Given the description of an element on the screen output the (x, y) to click on. 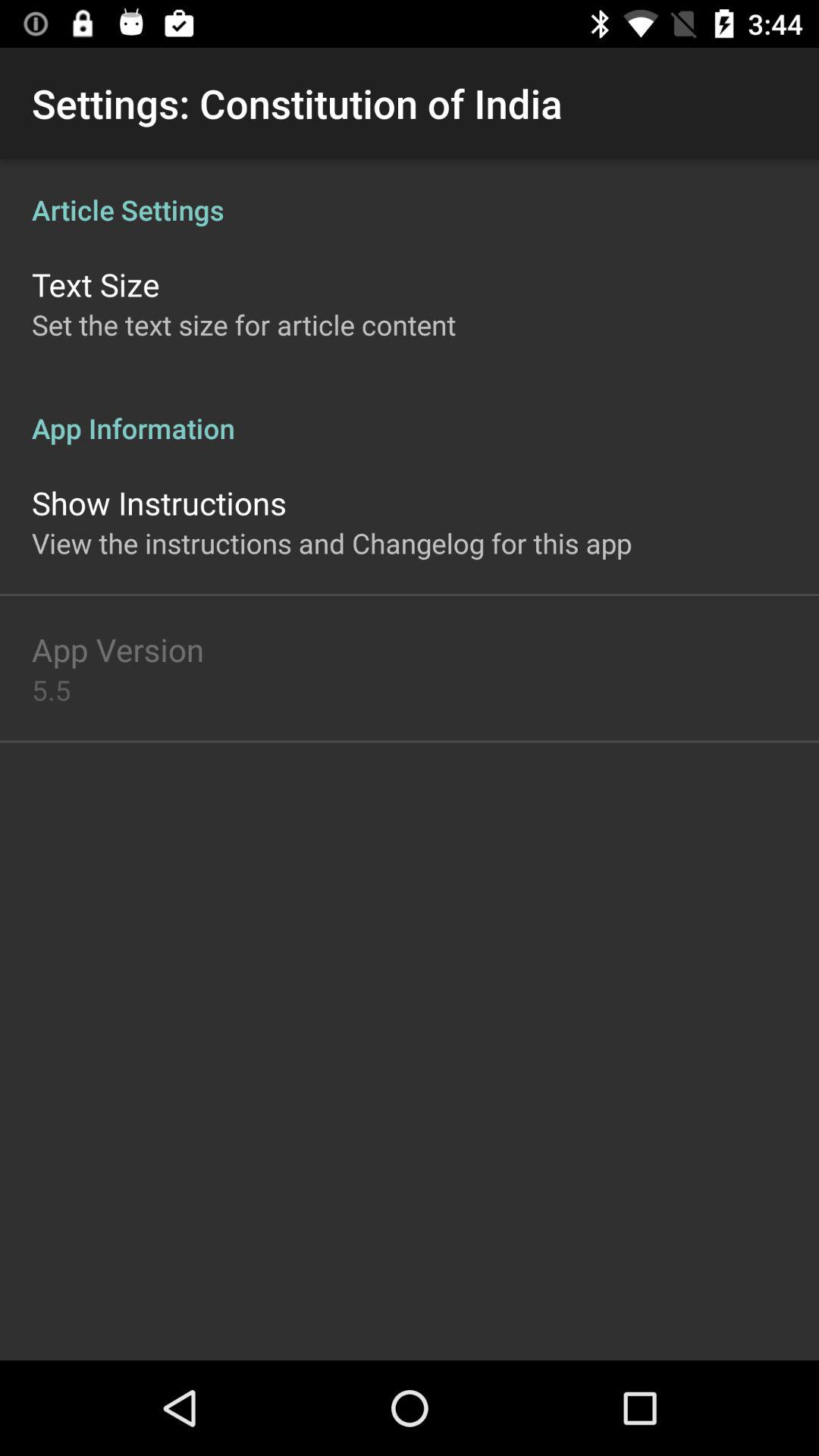
launch the article settings item (409, 193)
